Given the description of an element on the screen output the (x, y) to click on. 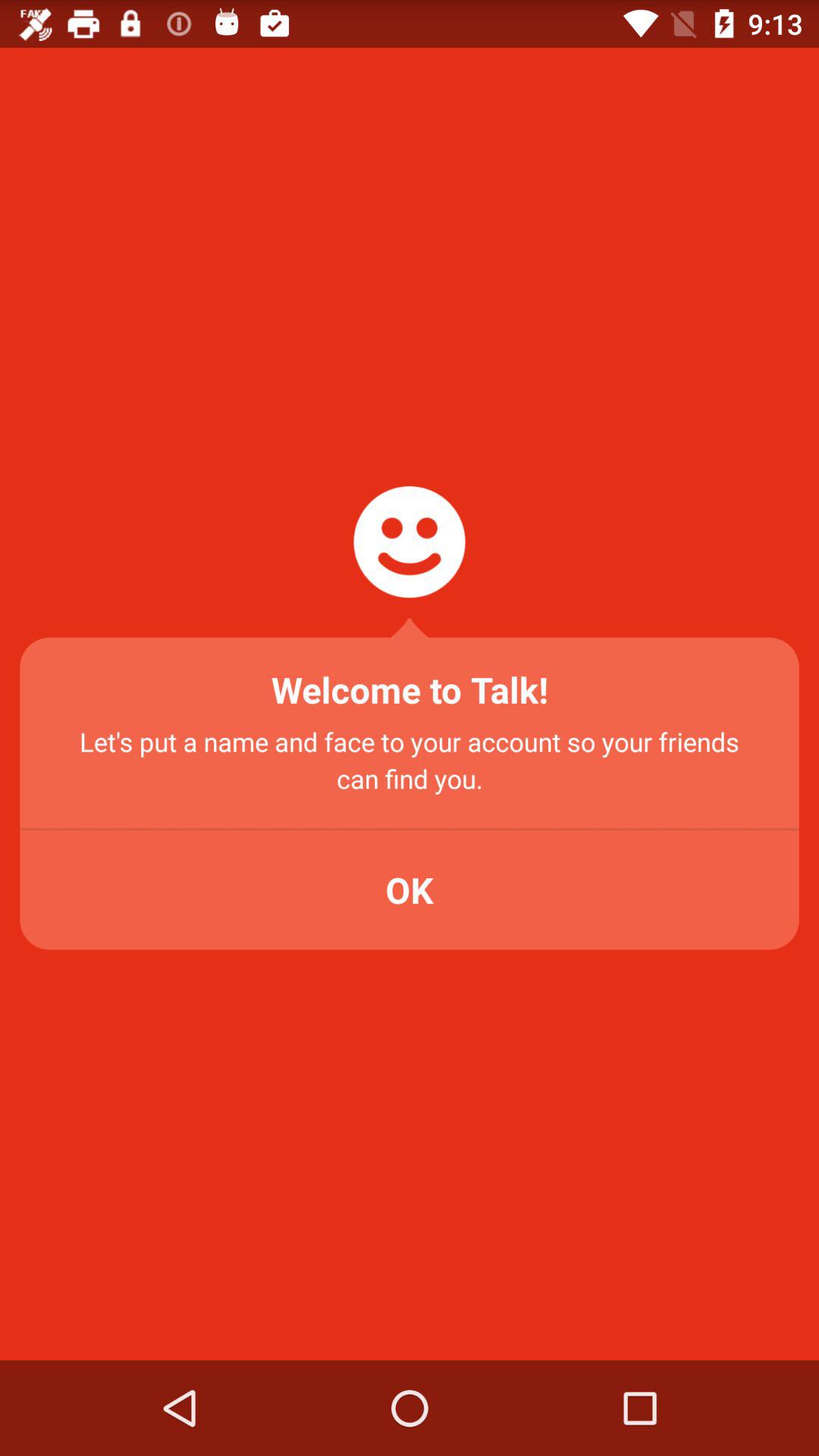
swipe until the ok item (409, 889)
